Given the description of an element on the screen output the (x, y) to click on. 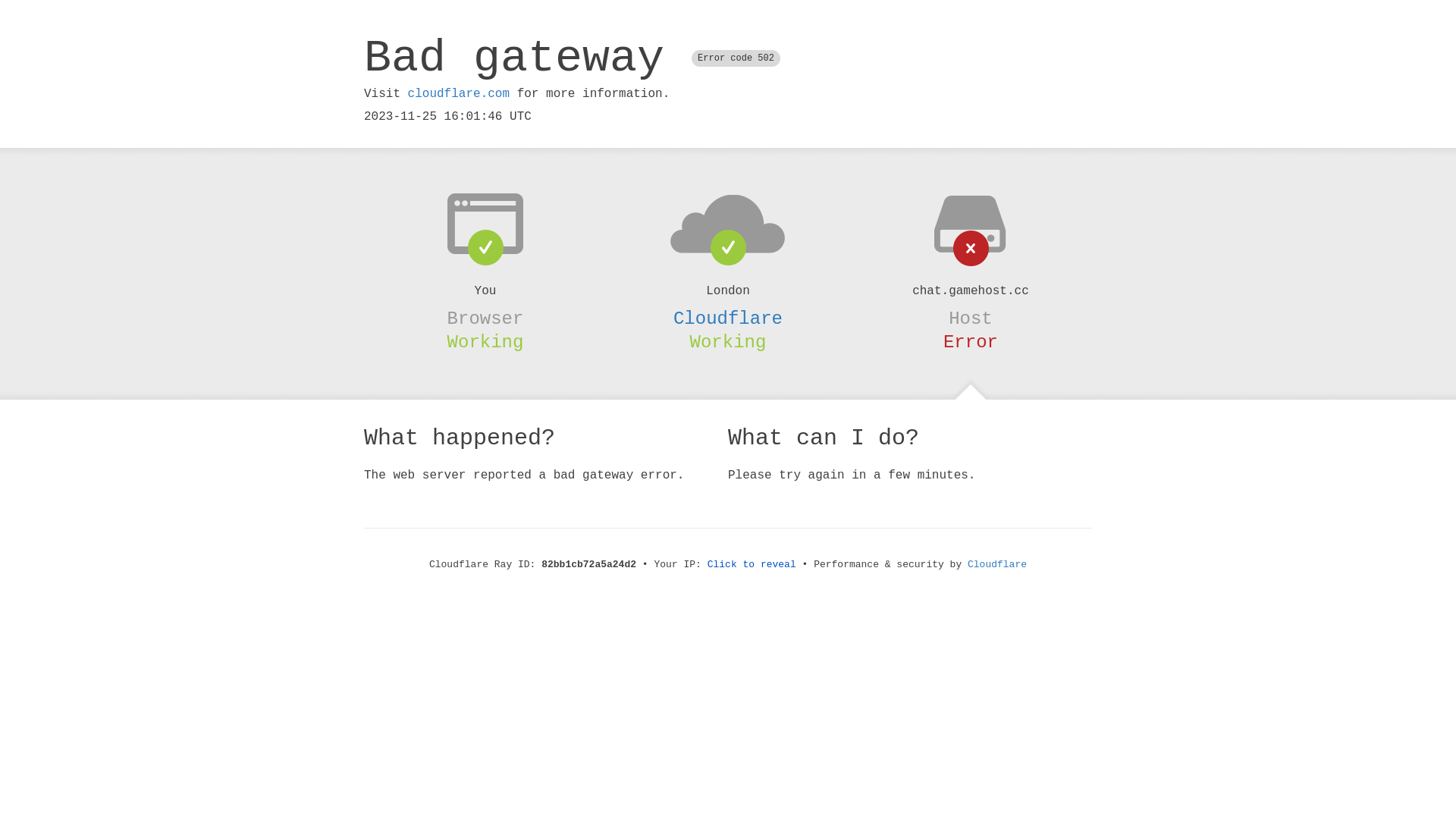
Cloudflare Element type: text (727, 318)
cloudflare.com Element type: text (458, 93)
Cloudflare Element type: text (996, 564)
Click to reveal Element type: text (751, 564)
